Given the description of an element on the screen output the (x, y) to click on. 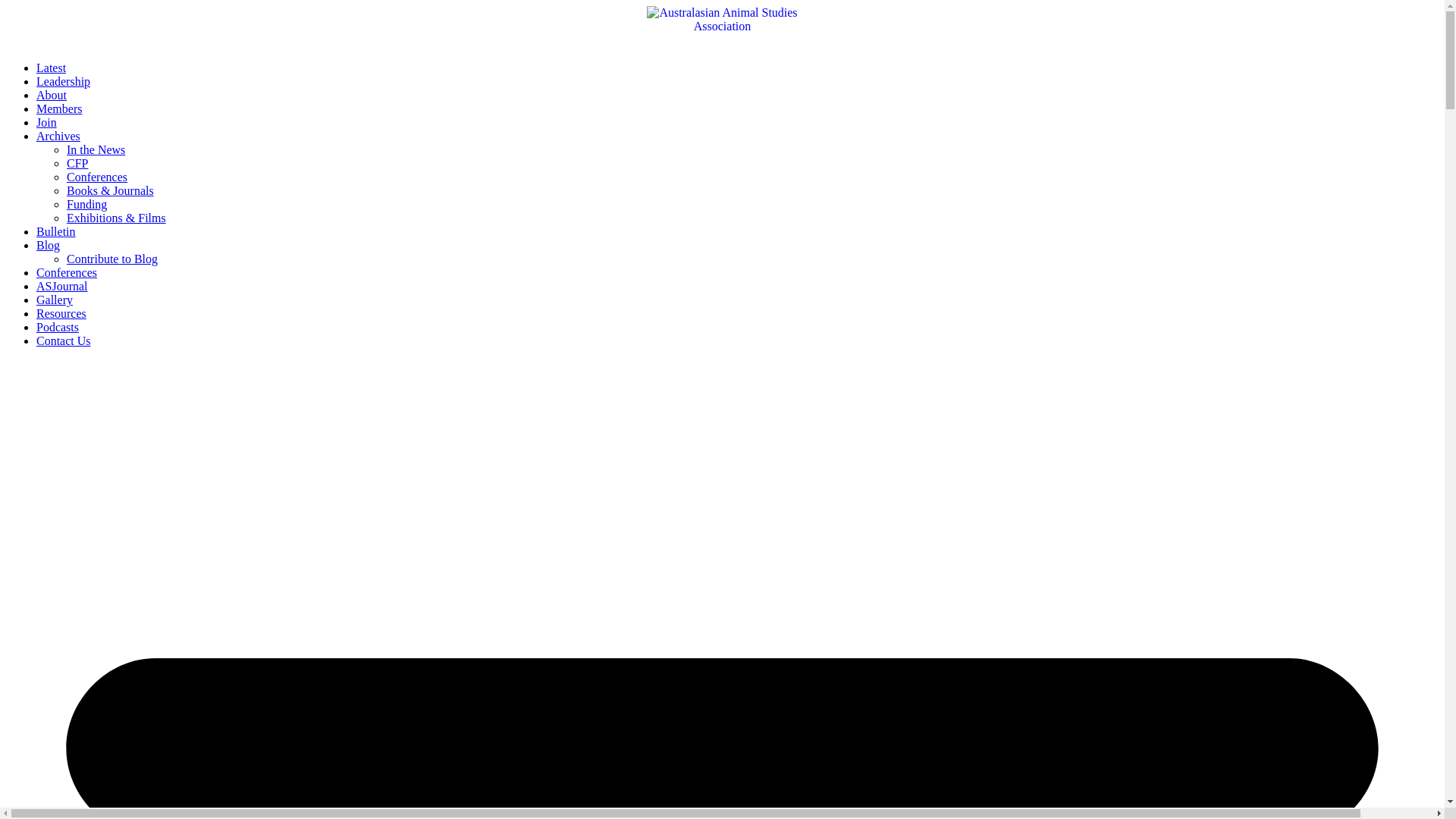
Conferences Element type: text (66, 272)
Join Element type: text (46, 122)
Gallery Element type: text (54, 299)
About Element type: text (51, 94)
Archives Element type: text (58, 135)
Books & Journals Element type: text (109, 190)
Contact Us Element type: text (63, 340)
Leadership Element type: text (63, 81)
Funding Element type: text (86, 203)
Skip to content Element type: text (5, 5)
Exhibitions & Films Element type: text (116, 217)
In the News Element type: text (95, 149)
ASJournal Element type: text (61, 285)
CFP Element type: text (76, 162)
Contribute to Blog Element type: text (111, 258)
Blog Element type: text (47, 244)
Members Element type: text (58, 108)
Conferences Element type: text (96, 176)
Resources Element type: text (61, 313)
Latest Element type: text (50, 67)
Podcasts Element type: text (57, 326)
Bulletin Element type: text (55, 231)
